Given the description of an element on the screen output the (x, y) to click on. 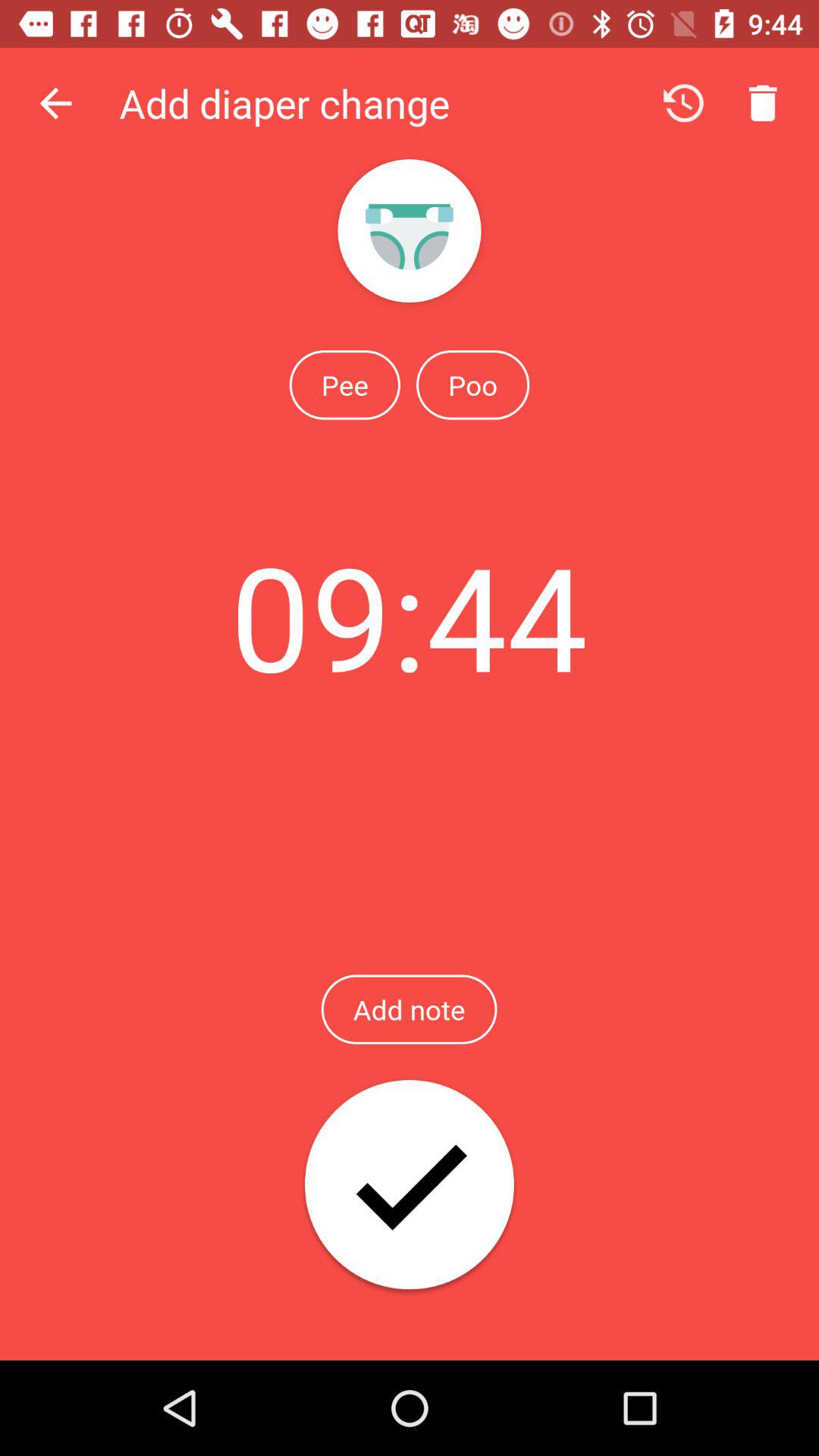
flip to the pee (344, 384)
